Given the description of an element on the screen output the (x, y) to click on. 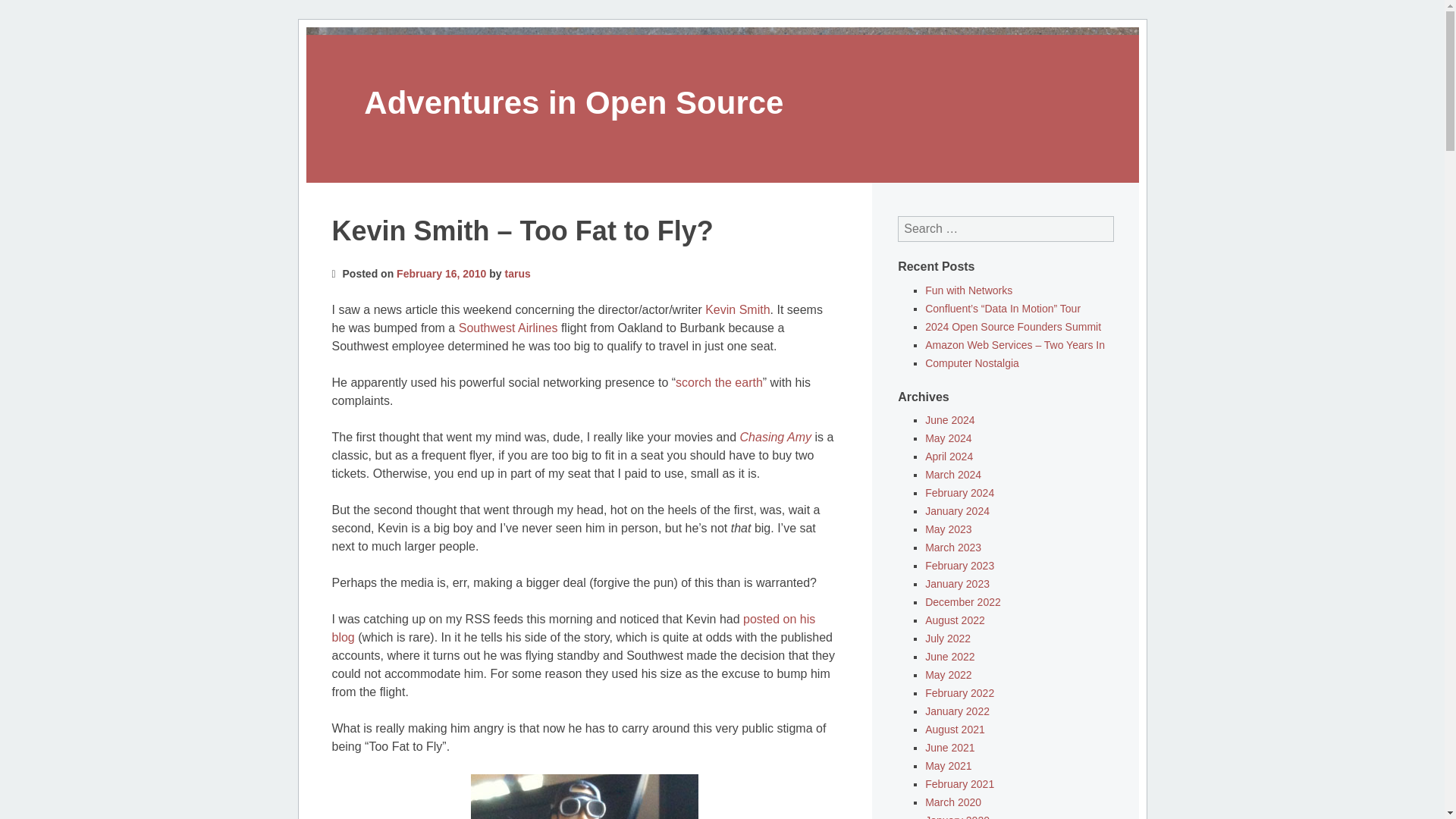
March 2023 (952, 547)
February 2024 (959, 492)
Southwest Airlines (507, 327)
Fun with Networks (967, 290)
Kevin Smith (737, 309)
tarus (518, 272)
Computer Nostalgia (971, 363)
May 2024 (947, 438)
January 2024 (957, 510)
scorch the earth (718, 382)
February 2023 (959, 565)
Search (27, 11)
Adventures in Open Source (573, 102)
May 2023 (947, 529)
Chasing Amy (775, 436)
